Given the description of an element on the screen output the (x, y) to click on. 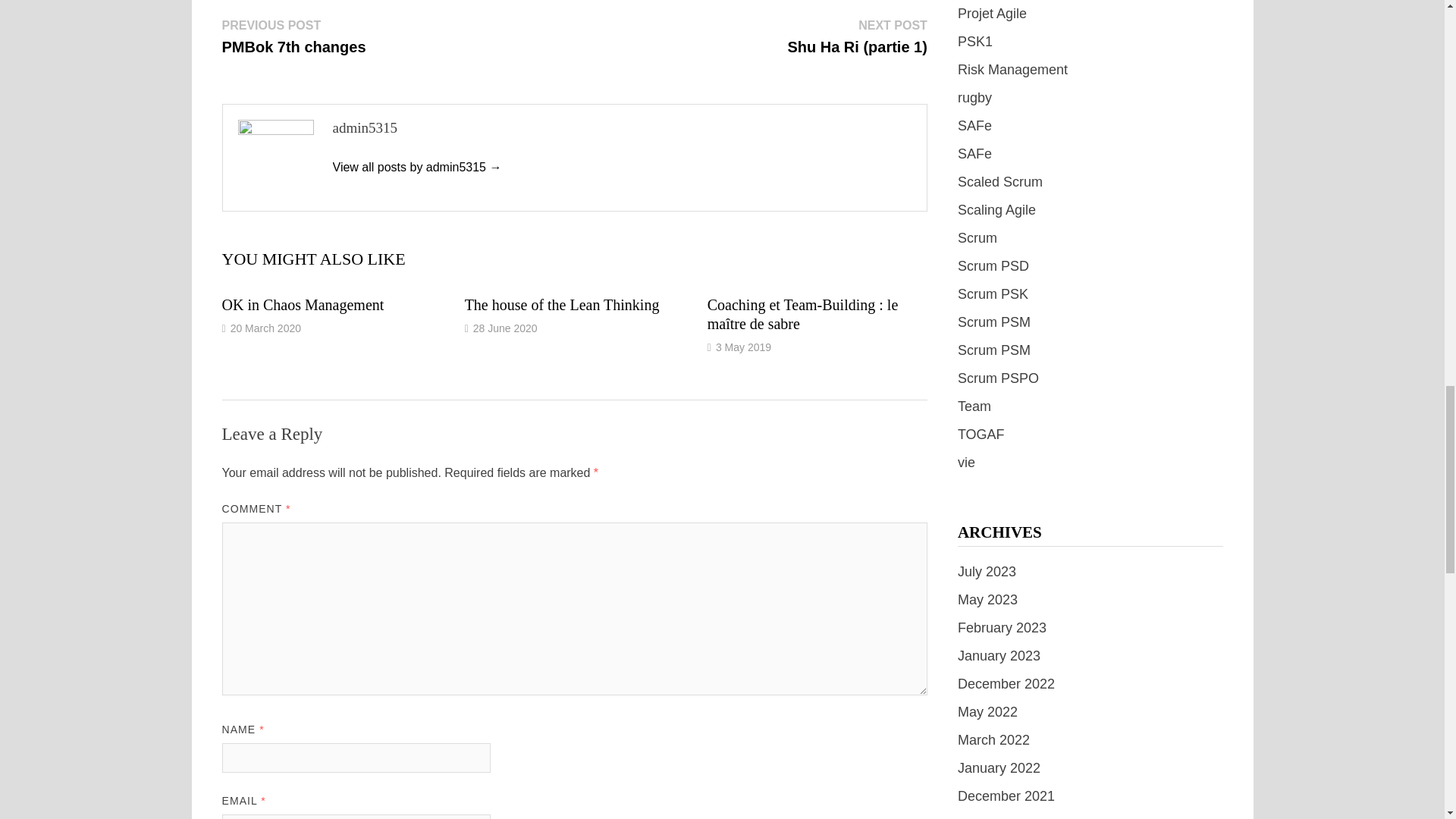
The house of the Lean Thinking (293, 36)
admin5315 (561, 304)
OK in Chaos Management (415, 166)
3 May 2019 (302, 304)
The house of the Lean Thinking (743, 346)
20 March 2020 (561, 304)
OK in Chaos Management (265, 328)
28 June 2020 (302, 304)
